Given the description of an element on the screen output the (x, y) to click on. 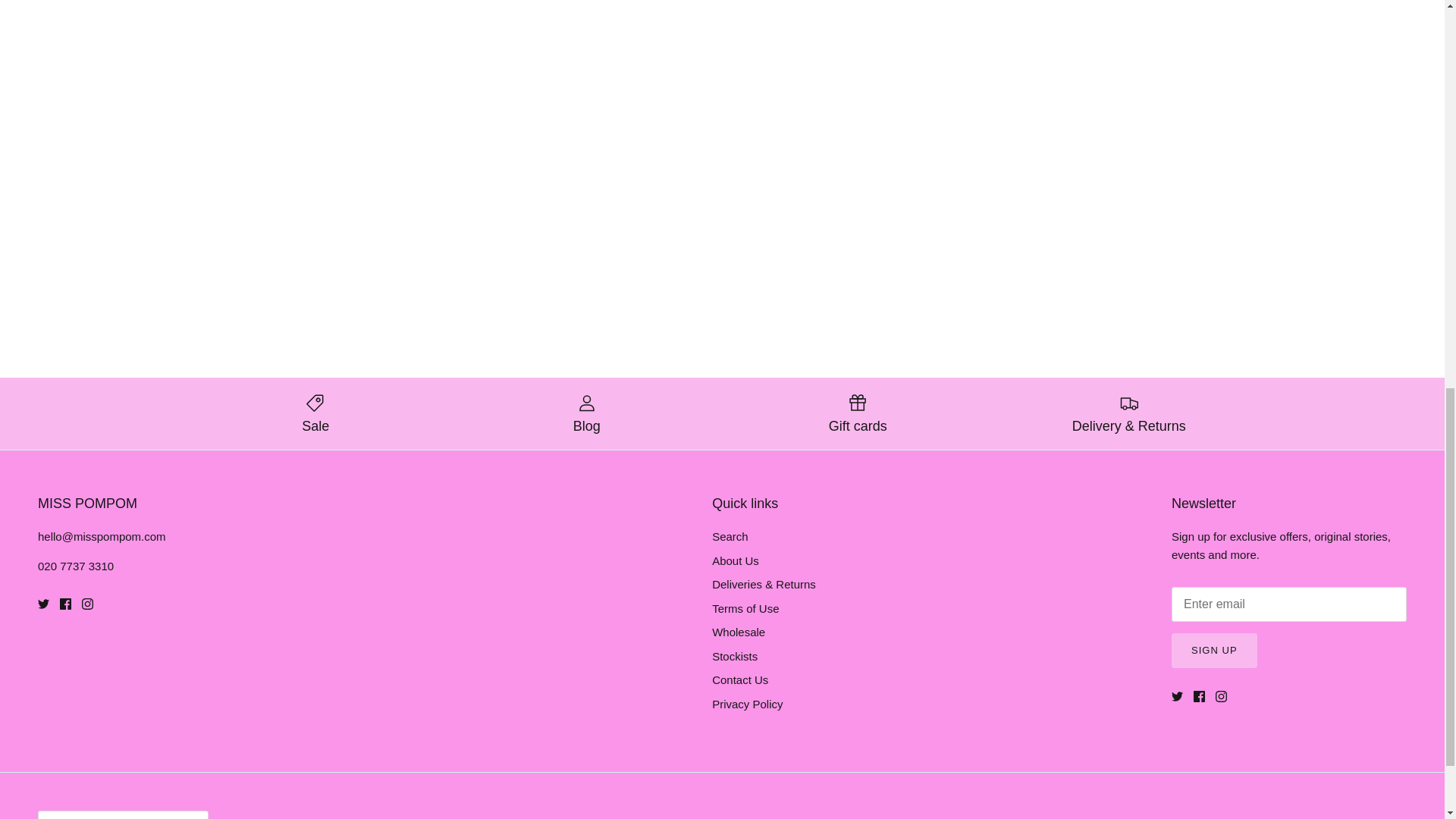
Facebook (65, 603)
Twitter (1177, 696)
Instagram (1221, 696)
Twitter (43, 603)
Instagram (87, 603)
Facebook (1199, 696)
